Given the description of an element on the screen output the (x, y) to click on. 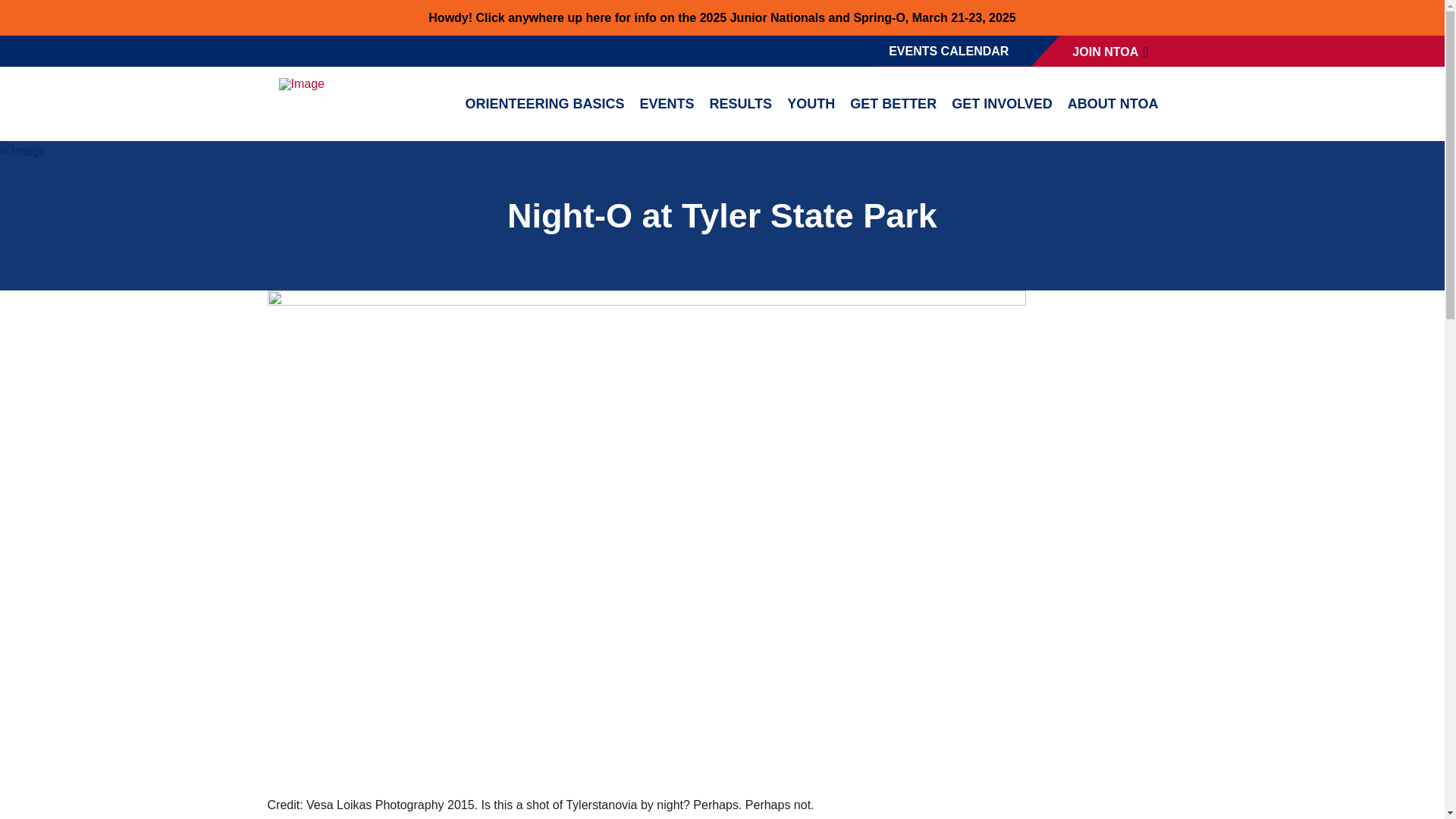
GET BETTER (893, 103)
ORIENTEERING BASICS (544, 103)
ABOUT NTOA (1112, 103)
EVENTS (666, 103)
GET INVOLVED (1001, 103)
EVENTS CALENDAR (949, 51)
JOIN NTOA (1112, 51)
RESULTS (739, 103)
